Given the description of an element on the screen output the (x, y) to click on. 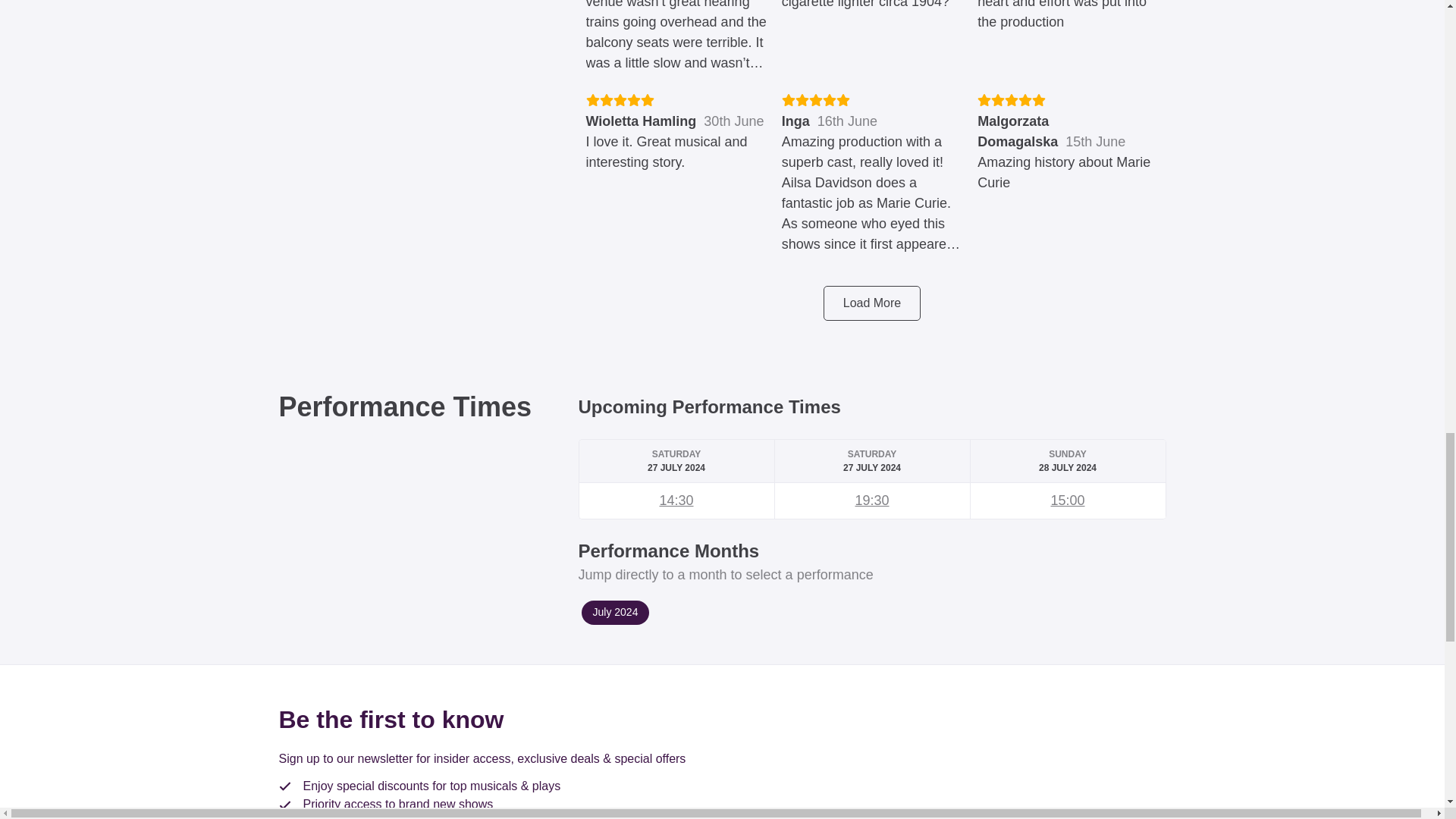
Marie Curie the Musical (1066, 500)
Monday 2024 (614, 612)
Marie Curie the Musical (871, 500)
Load more (872, 303)
Marie Curie the Musical (676, 500)
